Given the description of an element on the screen output the (x, y) to click on. 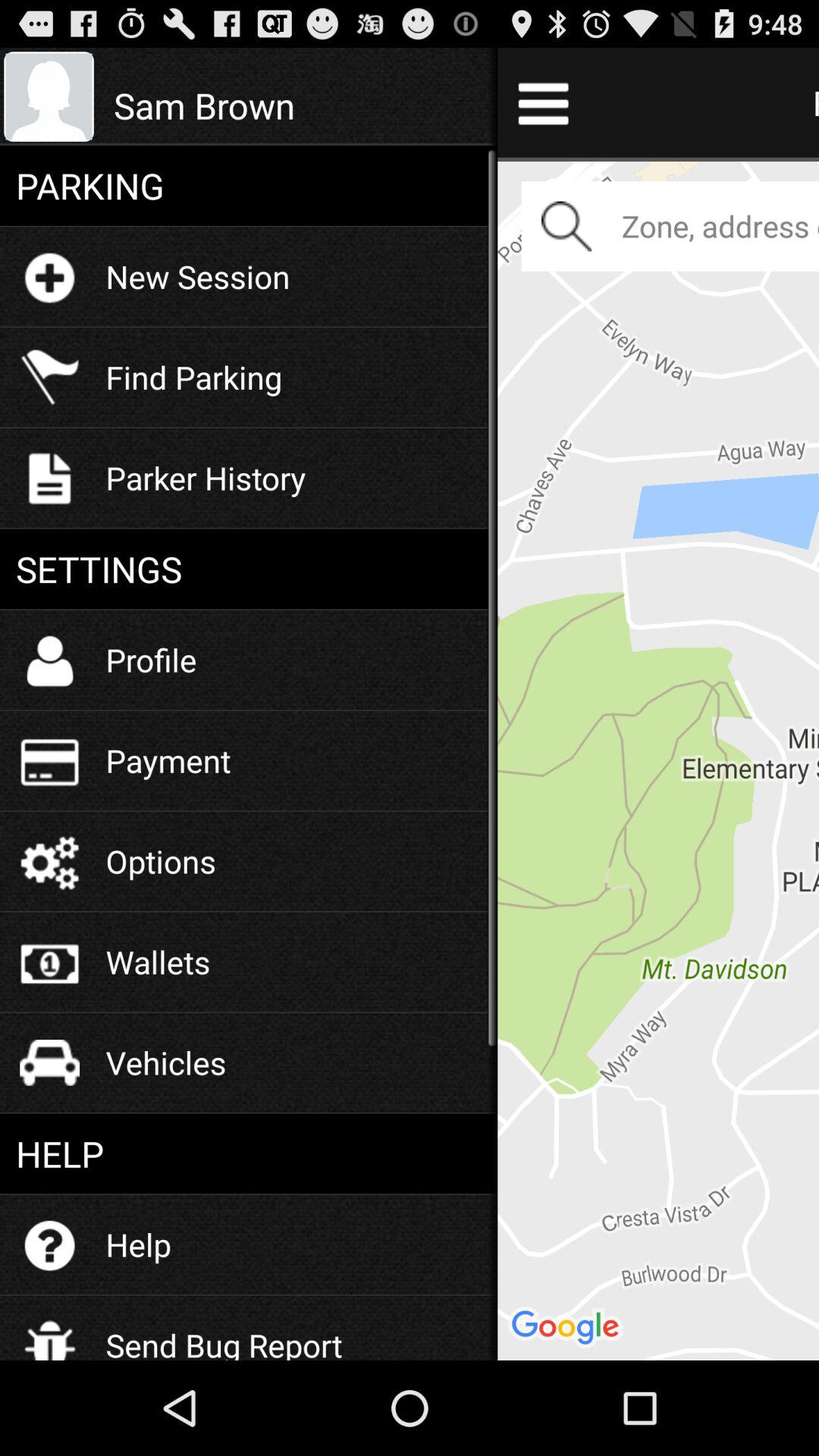
swipe to the vehicles item (165, 1061)
